Given the description of an element on the screen output the (x, y) to click on. 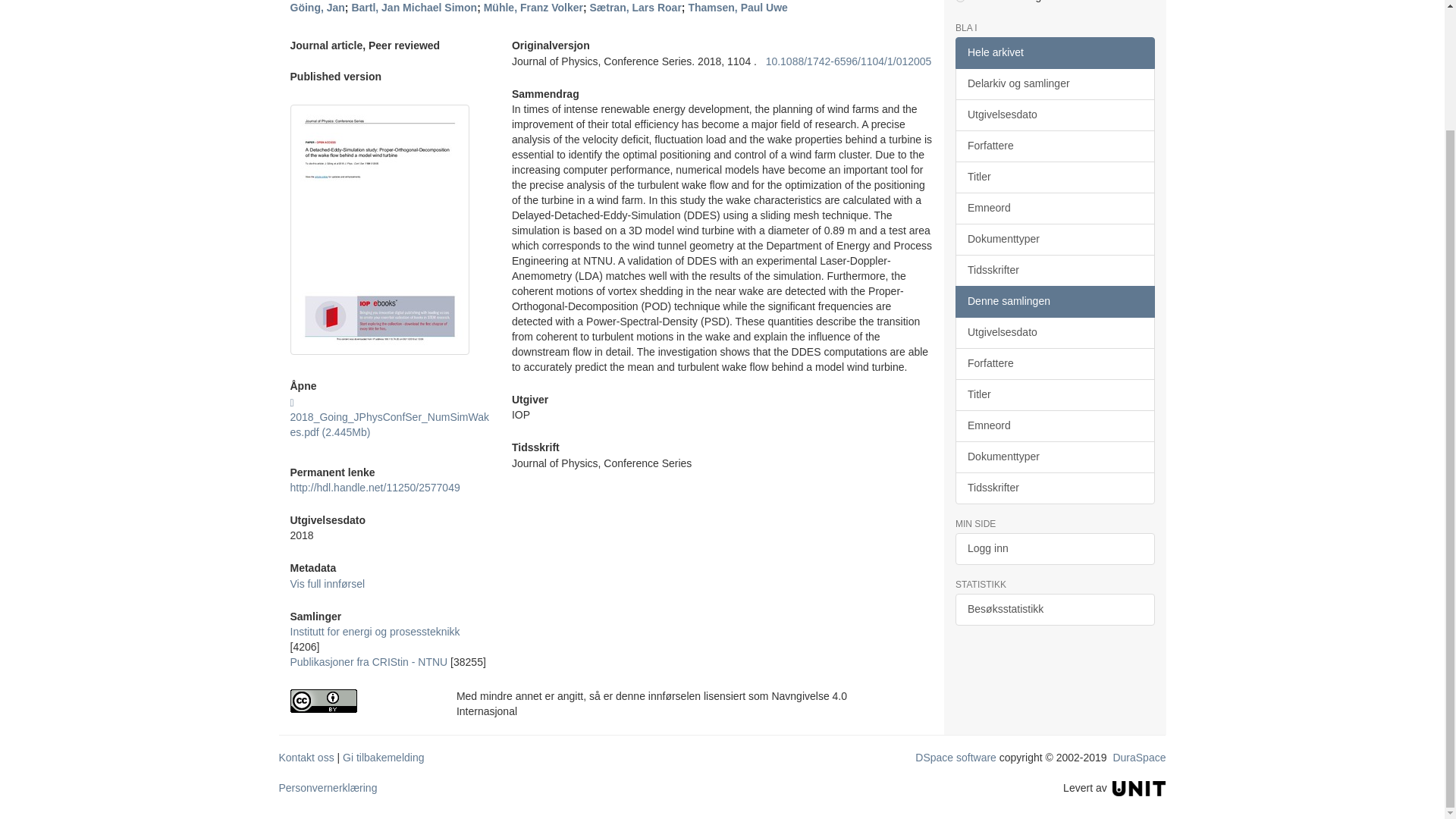
Thamsen, Paul Uwe (737, 7)
Publikasjoner fra CRIStin - NTNU (367, 662)
Hele arkivet (1054, 52)
Institutt for energi og prosessteknikk (374, 631)
Unit (1139, 787)
Navngivelse 4.0 Internasjonal (360, 700)
Bartl, Jan Michael Simon (413, 7)
